Given the description of an element on the screen output the (x, y) to click on. 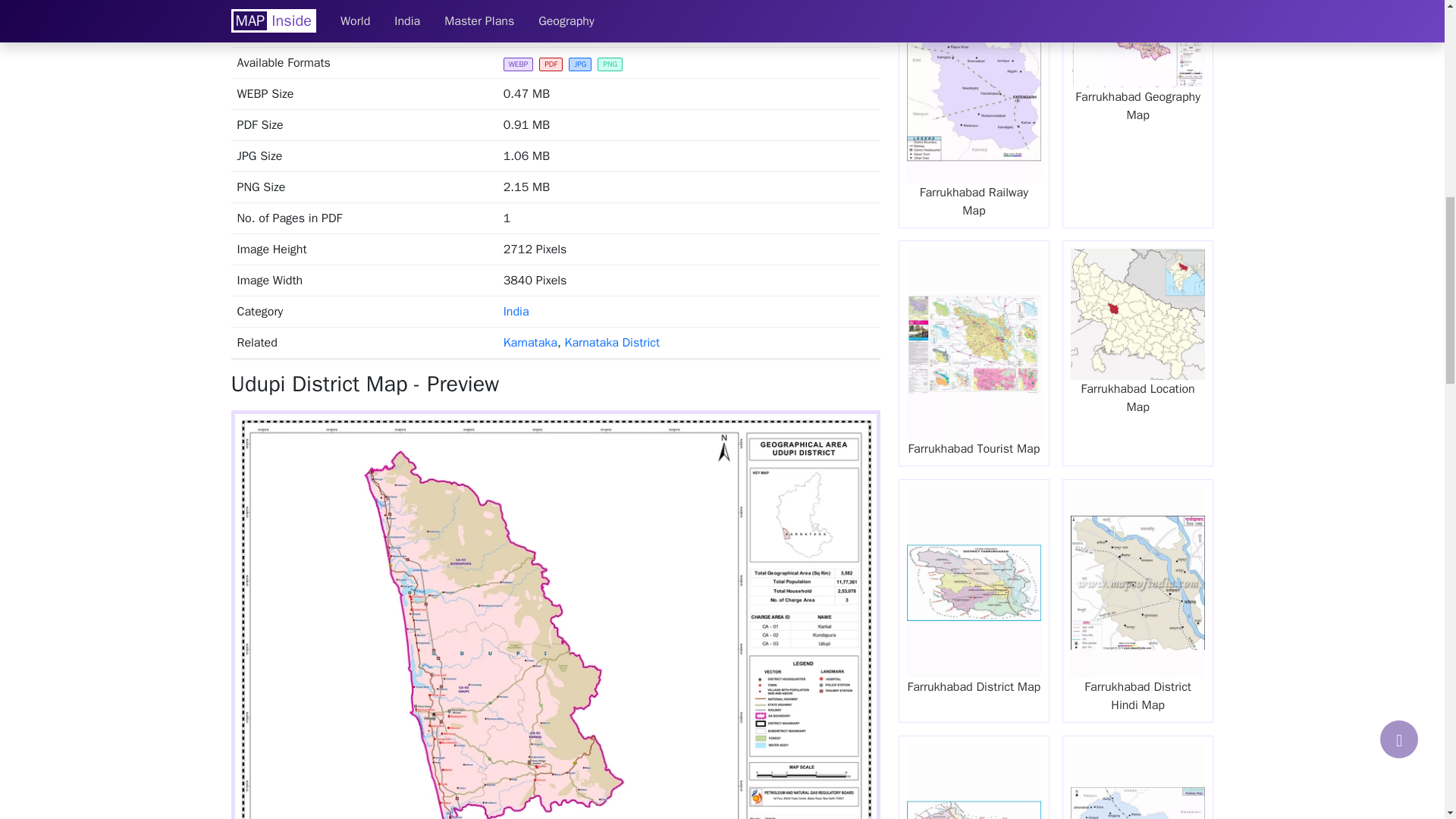
India (516, 311)
Fatehpur Railway Map (1138, 777)
Karnataka (530, 342)
Karnataka District (612, 342)
Fatehpur District Map (973, 777)
